Given the description of an element on the screen output the (x, y) to click on. 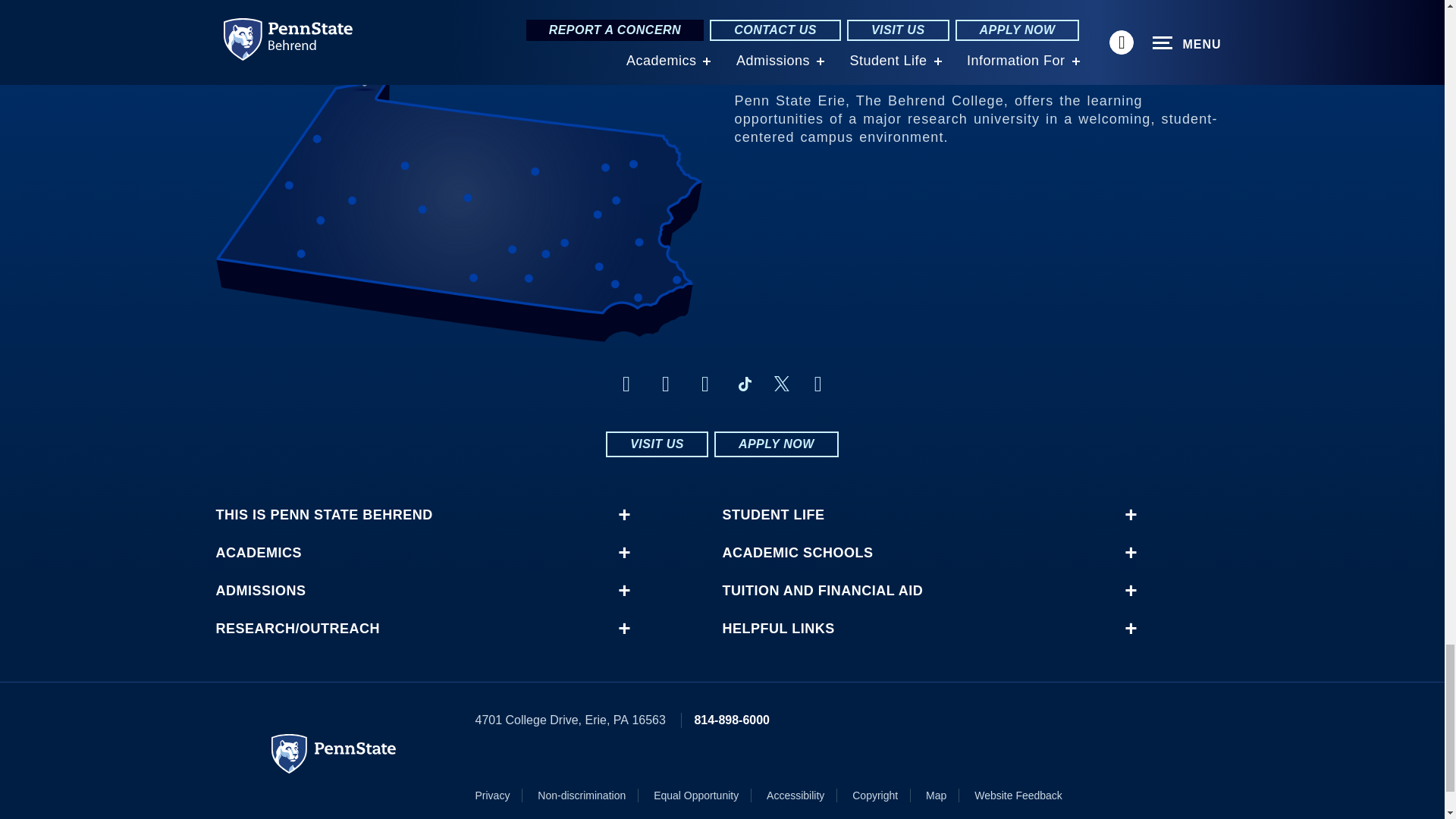
LinkedIn (705, 383)
YouTube (818, 383)
Penn State University (333, 753)
Facebook (626, 383)
Instagram (666, 383)
TikTok (744, 383)
